Given the description of an element on the screen output the (x, y) to click on. 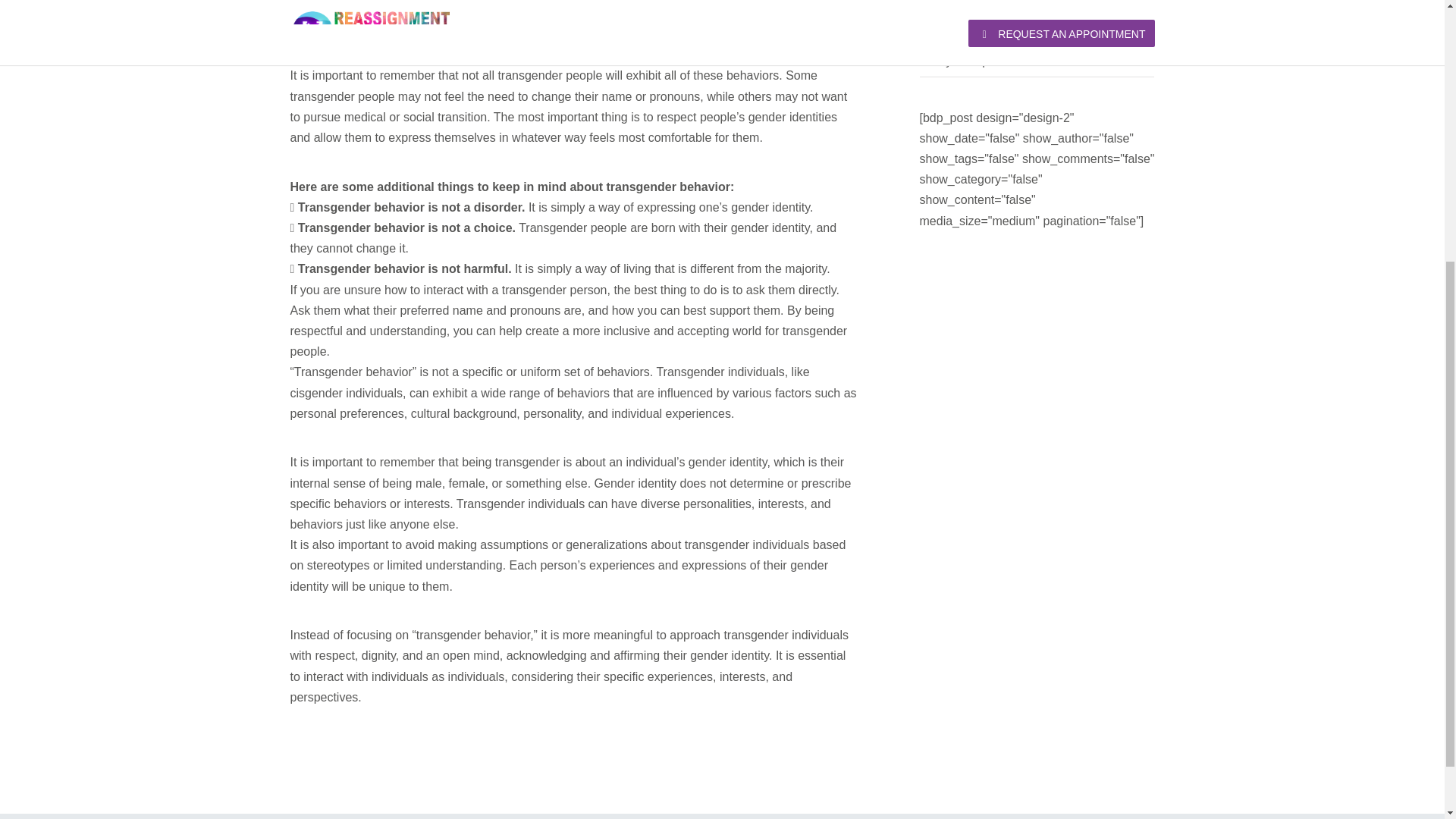
Submit (486, 118)
Ovary transplant to male (984, 60)
Gender transition surgery male to female (1028, 2)
Transgender process from female to male (1030, 29)
